Given the description of an element on the screen output the (x, y) to click on. 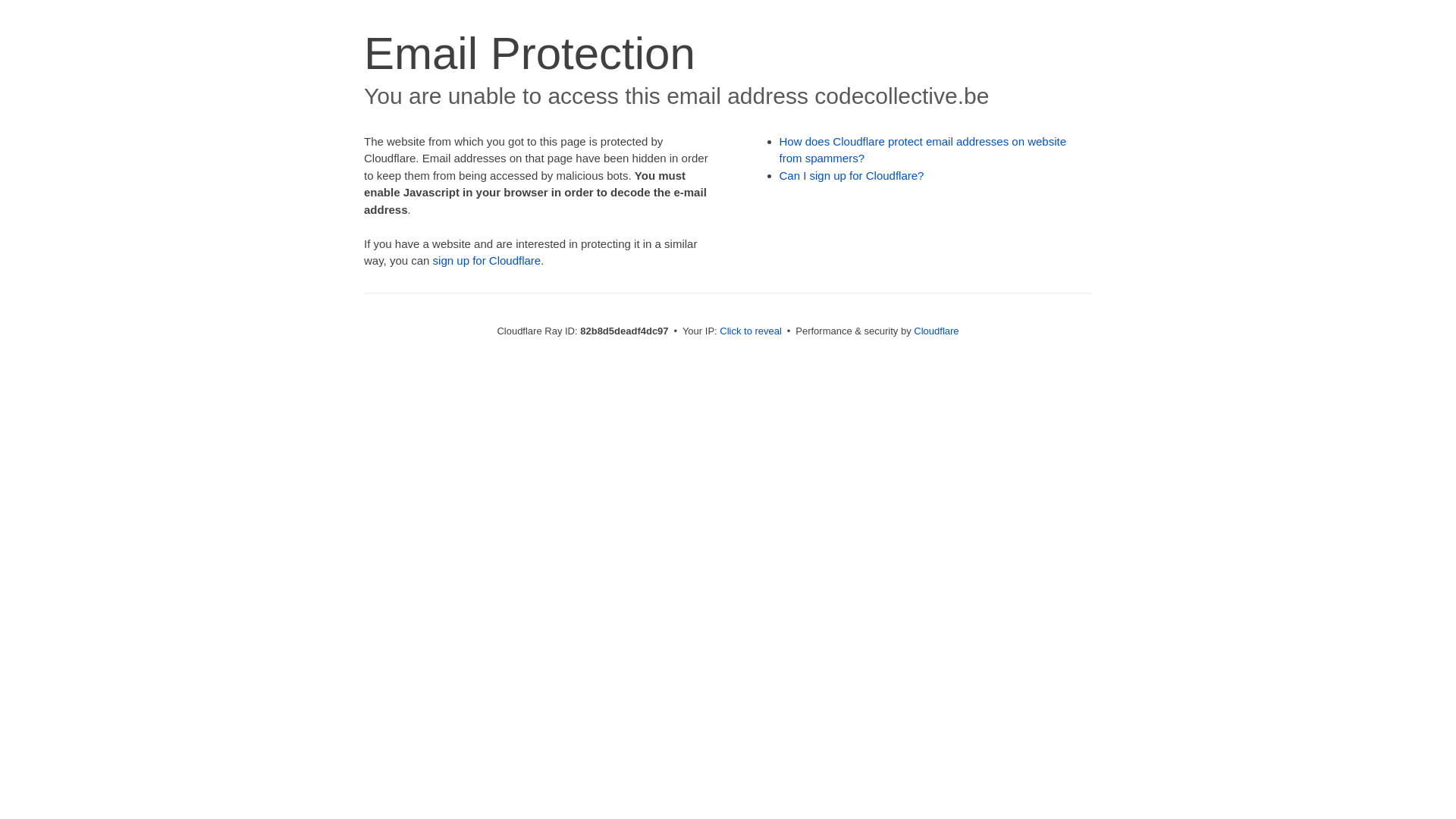
sign up for Cloudflare Element type: text (487, 260)
Cloudflare Element type: text (935, 330)
Click to reveal Element type: text (750, 330)
Can I sign up for Cloudflare? Element type: text (851, 175)
